Given the description of an element on the screen output the (x, y) to click on. 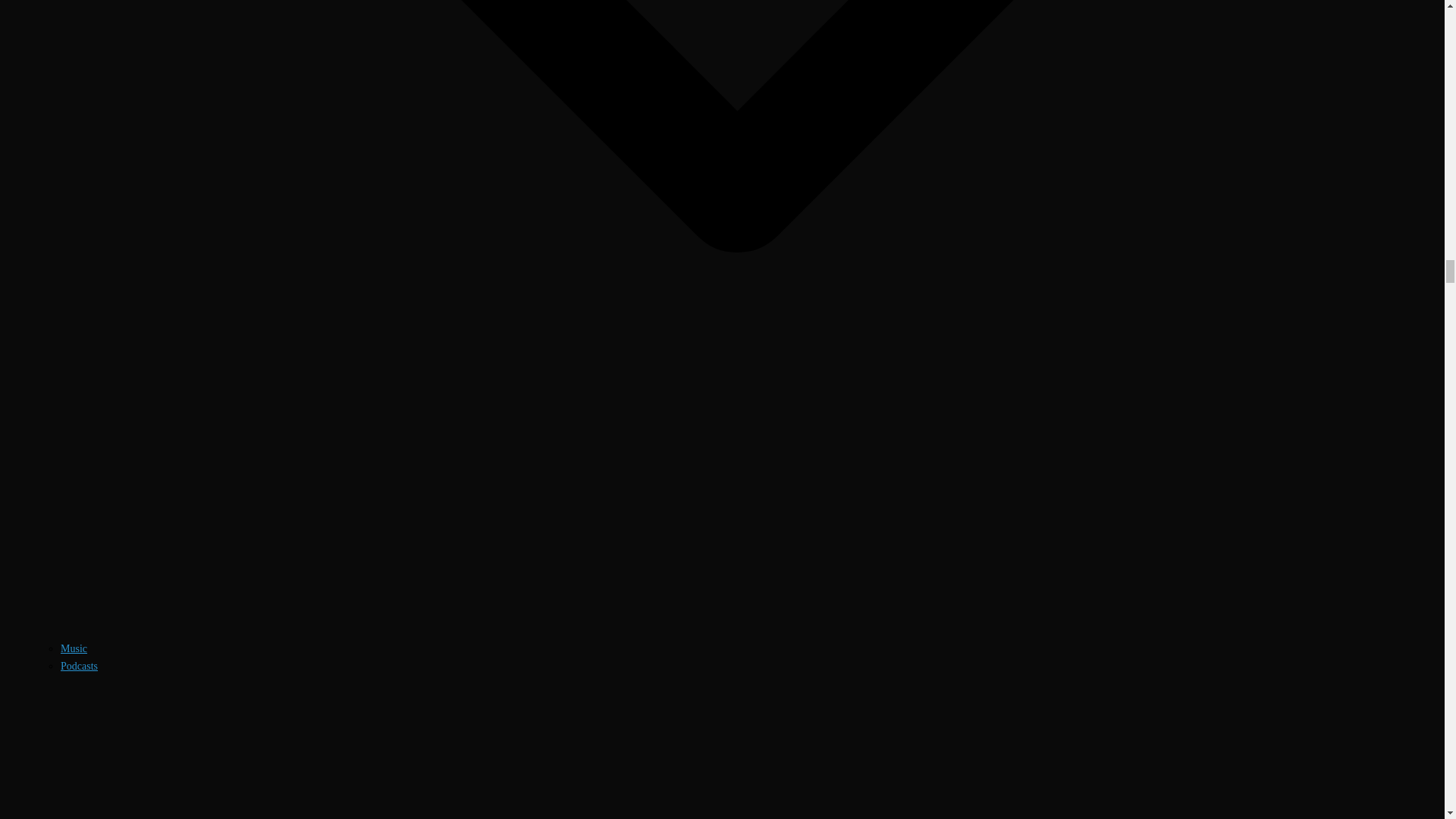
Podcasts (79, 665)
Music (74, 648)
